Given the description of an element on the screen output the (x, y) to click on. 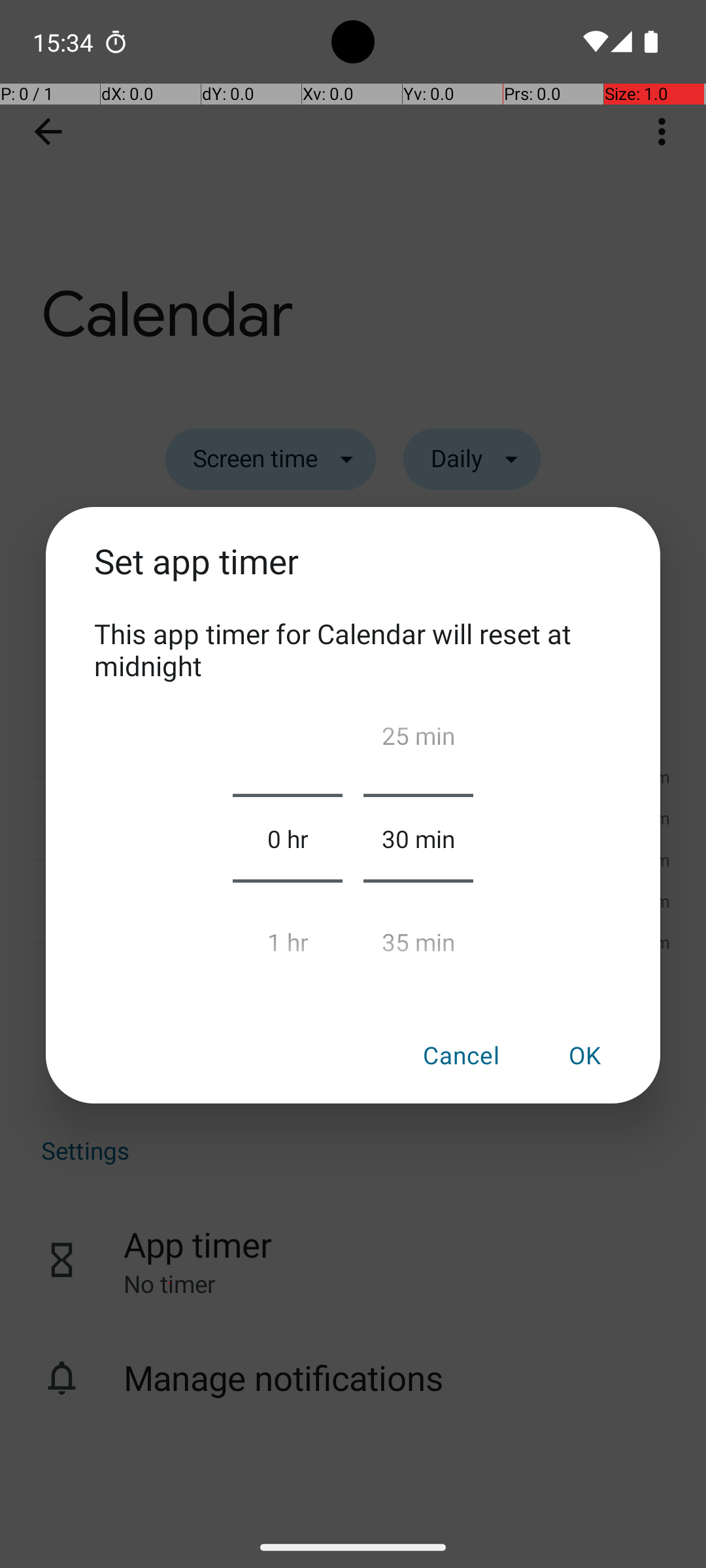
Set app timer Element type: android.widget.TextView (352, 575)
This app timer for Calendar will reset at midnight Element type: android.widget.TextView (352, 649)
0 hr Element type: android.widget.EditText (287, 838)
1 hr Element type: android.widget.Button (287, 936)
25 min Element type: android.widget.Button (418, 740)
30 min Element type: android.widget.EditText (418, 838)
35 min Element type: android.widget.Button (418, 936)
